Given the description of an element on the screen output the (x, y) to click on. 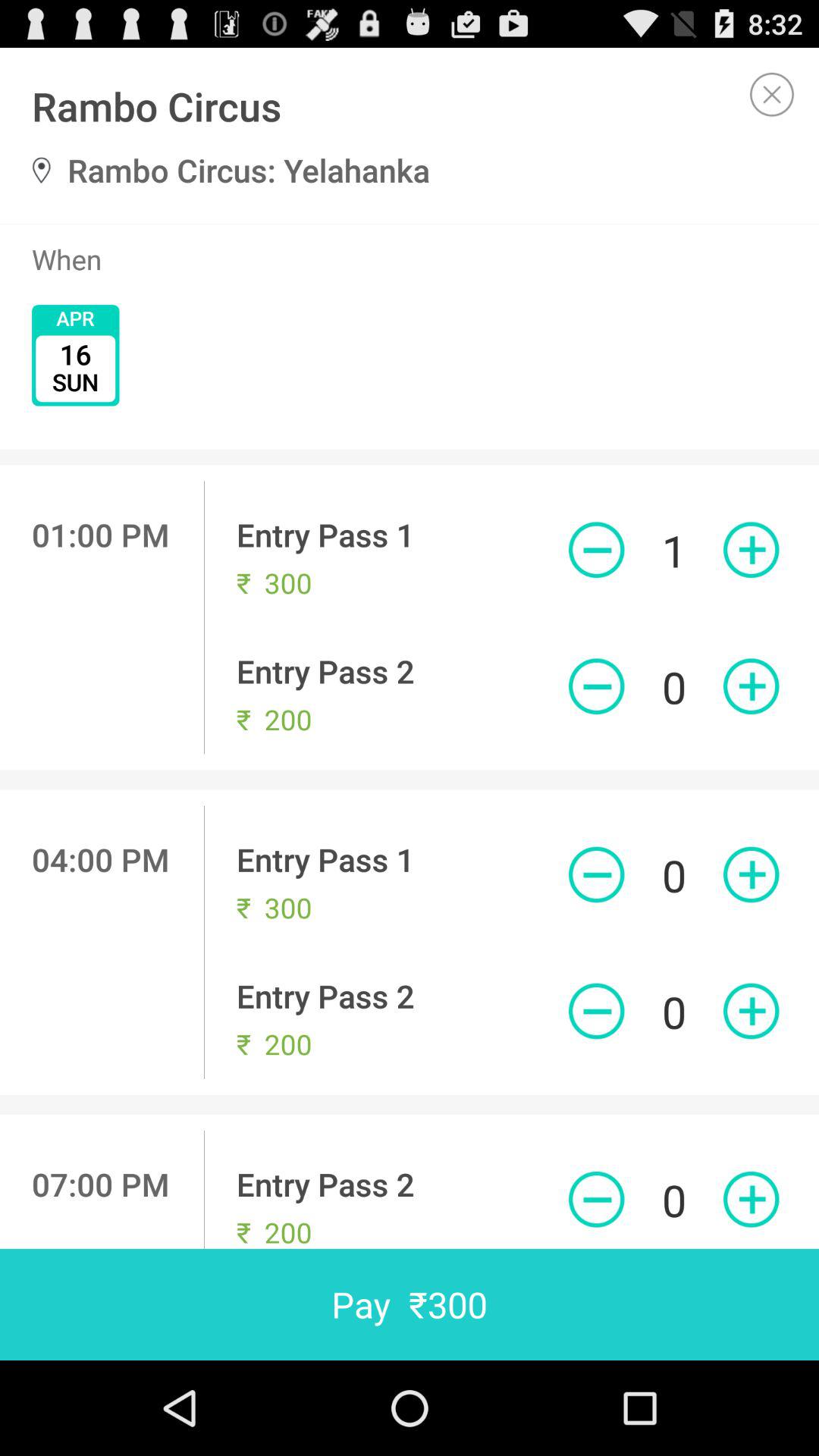
reduce entry pass quantity (596, 874)
